Given the description of an element on the screen output the (x, y) to click on. 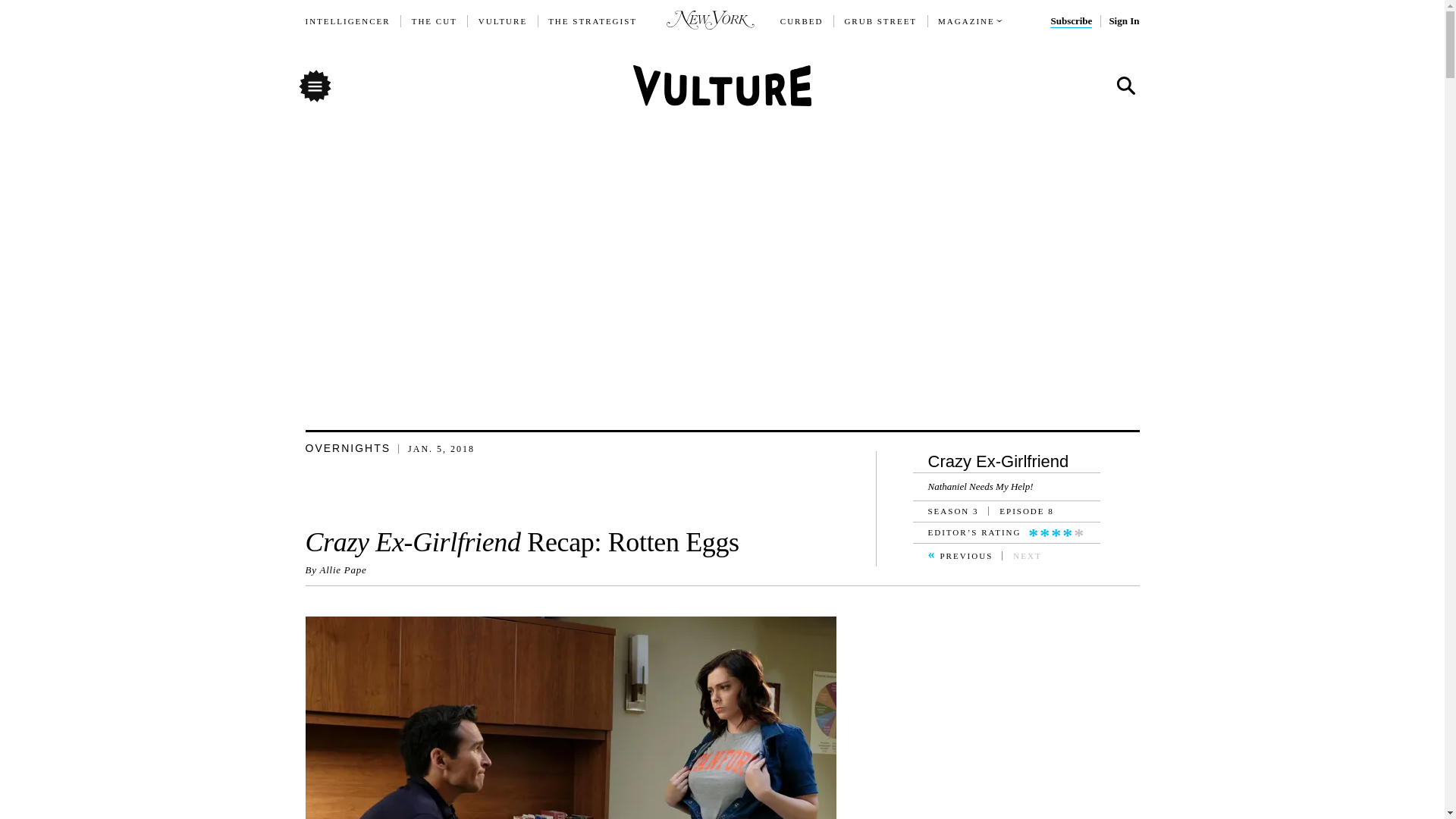
Sign In (1123, 21)
INTELLIGENCER (347, 21)
Subscribe (1070, 21)
GRUB STREET (880, 21)
THE CUT (434, 21)
CURBED (802, 21)
Menu (314, 84)
THE STRATEGIST (592, 21)
Search (1124, 86)
VULTURE (503, 21)
